Given the description of an element on the screen output the (x, y) to click on. 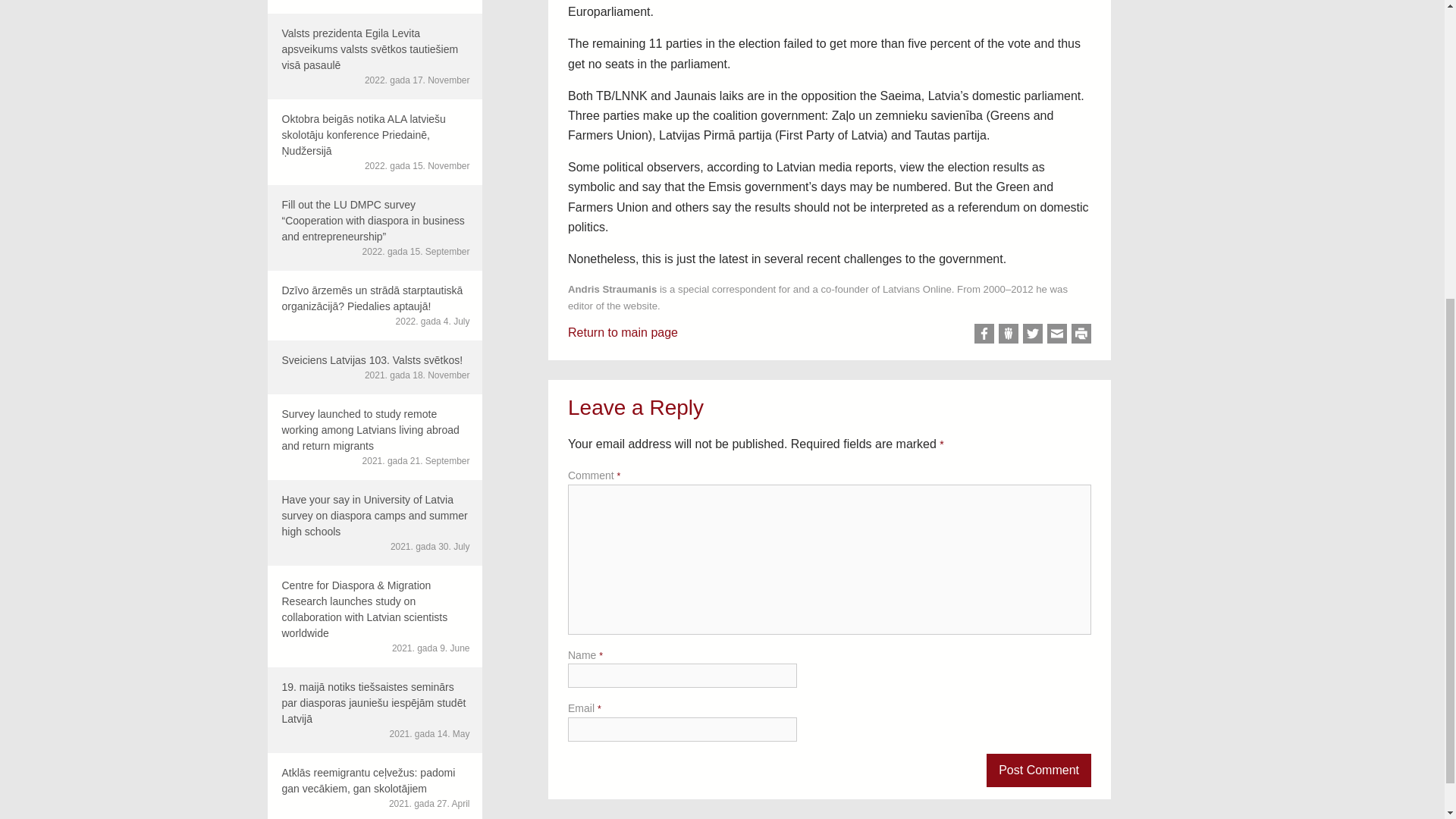
Print (1080, 333)
Share on Facebook (984, 333)
Post Comment (1038, 770)
Return to main page (622, 332)
Share on Twitter (1032, 333)
Share on Draugiem.lv (1007, 333)
Share via Email (1056, 333)
